Given the description of an element on the screen output the (x, y) to click on. 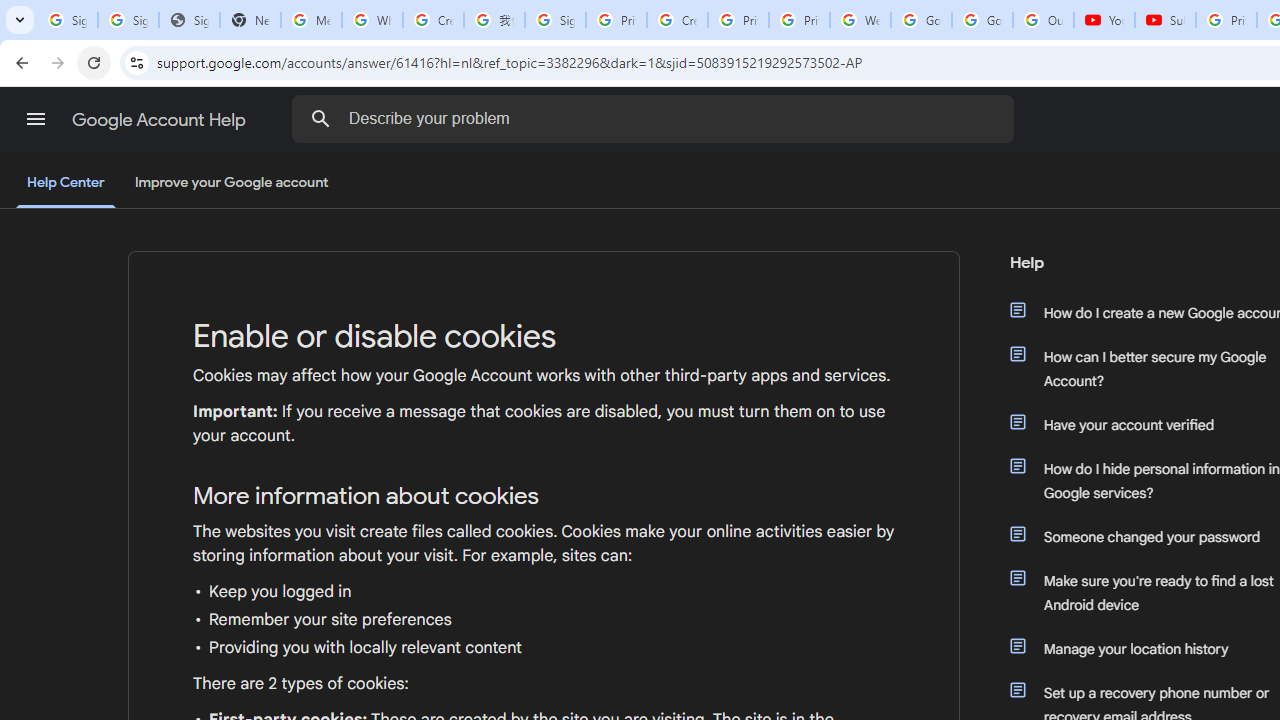
Help Center (65, 183)
Subscriptions - YouTube (1165, 20)
Google Account (982, 20)
